Given the description of an element on the screen output the (x, y) to click on. 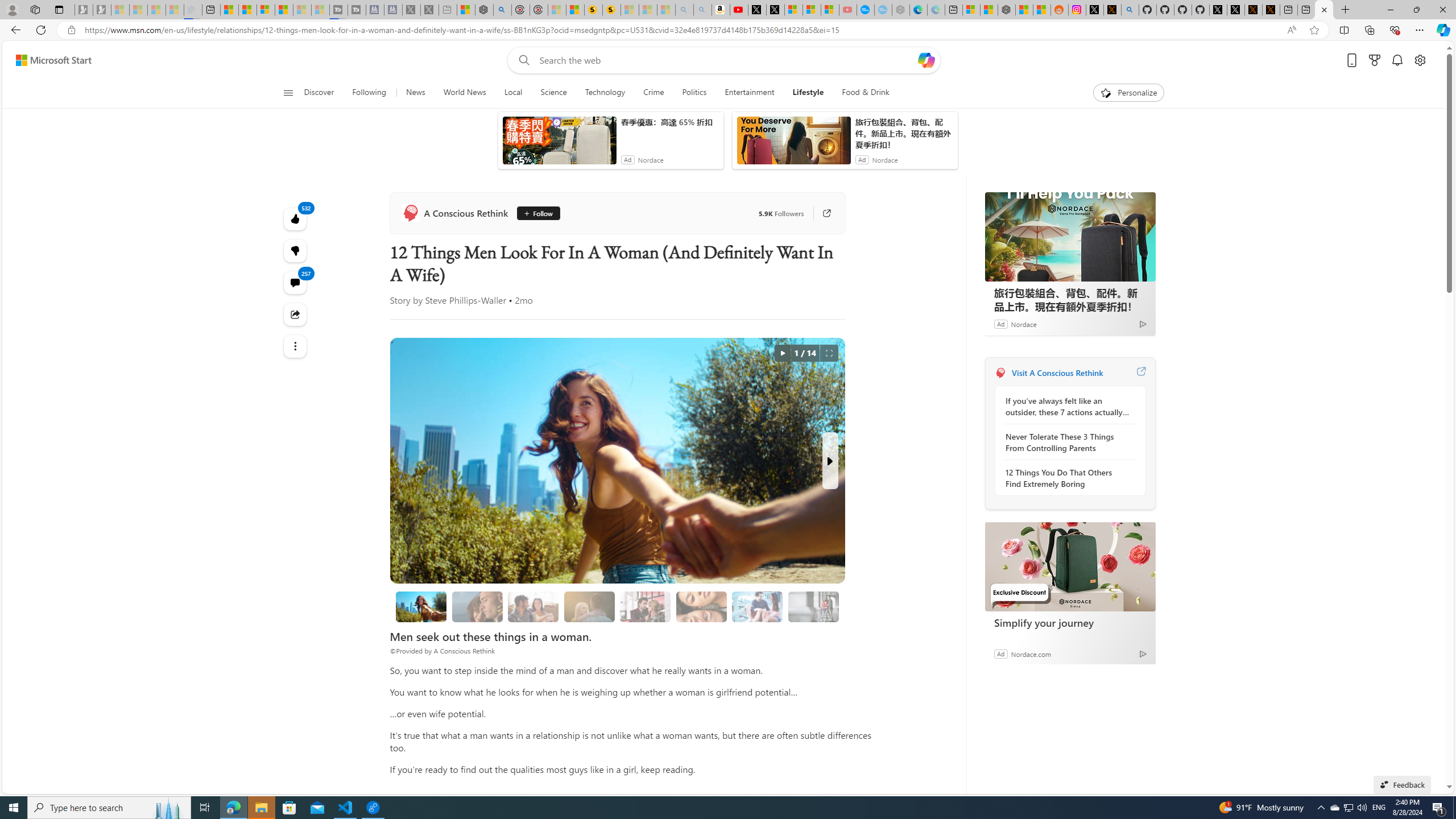
Weather (580, 151)
More options (1146, 718)
View comments 8 Comment (705, 327)
Watch (619, 151)
36 Like (652, 327)
View comments 42 Comment (703, 327)
Address and search bar (692, 29)
Microsoft Edge (1043, 538)
AutomationID: tab-15 (442, 328)
961 Like (654, 327)
Microsoft Start - Sleeping (301, 9)
